Given the description of an element on the screen output the (x, y) to click on. 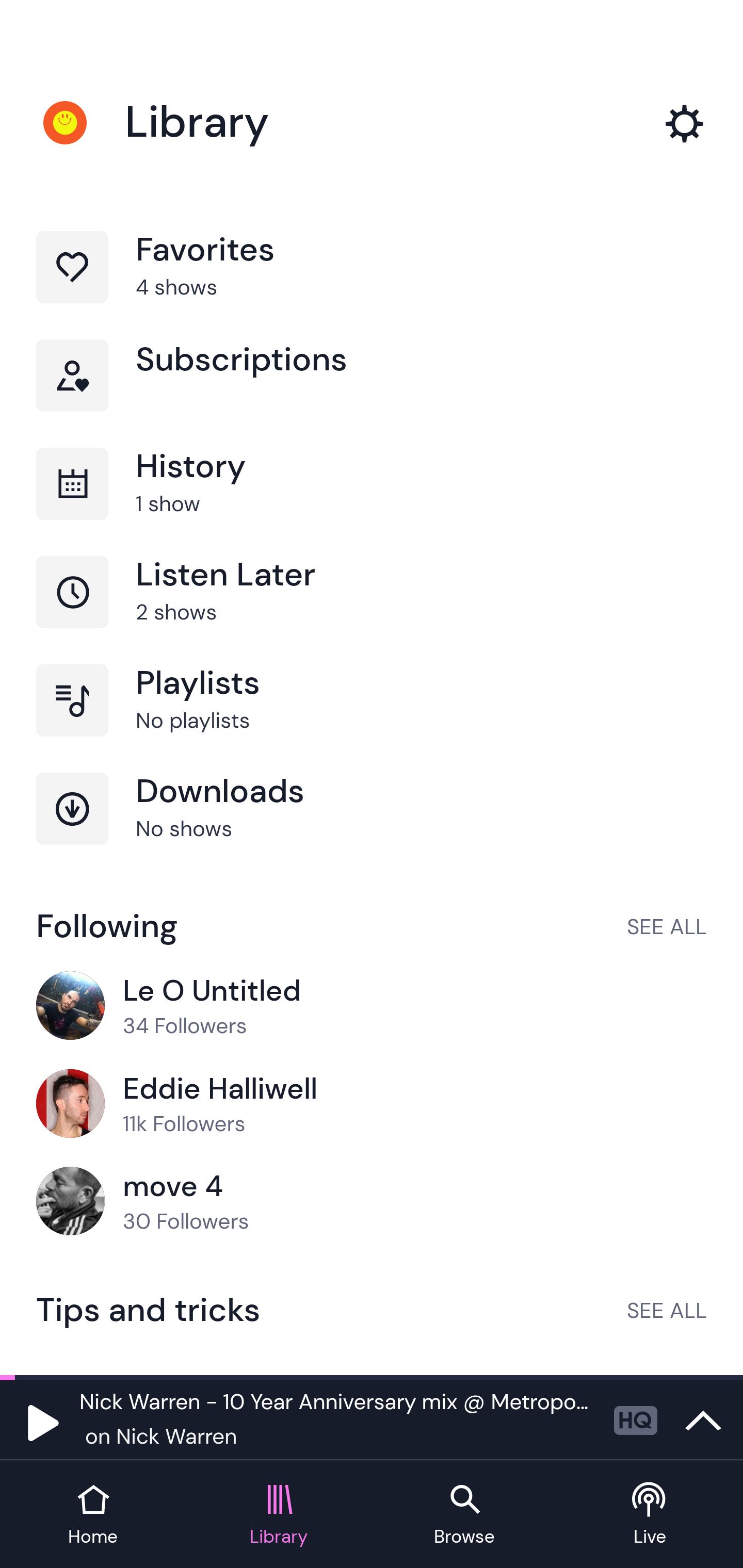
Favorites, 4 shows Favorites 4 shows (371, 284)
Subscriptions (371, 393)
History, 1 show History 1 show (371, 502)
Listen Later, 2 shows Listen Later 2 shows (371, 610)
Playlists, No playlists Playlists No playlists (371, 718)
Downloads, No shows Downloads No shows (371, 827)
SEE ALL (666, 926)
move 4, 30 Followers move 4 30 Followers (371, 1201)
SEE ALL (666, 1309)
Home tab Home (92, 1515)
Library tab Library (278, 1515)
Browse tab Browse (464, 1515)
Live tab Live (650, 1515)
